Given the description of an element on the screen output the (x, y) to click on. 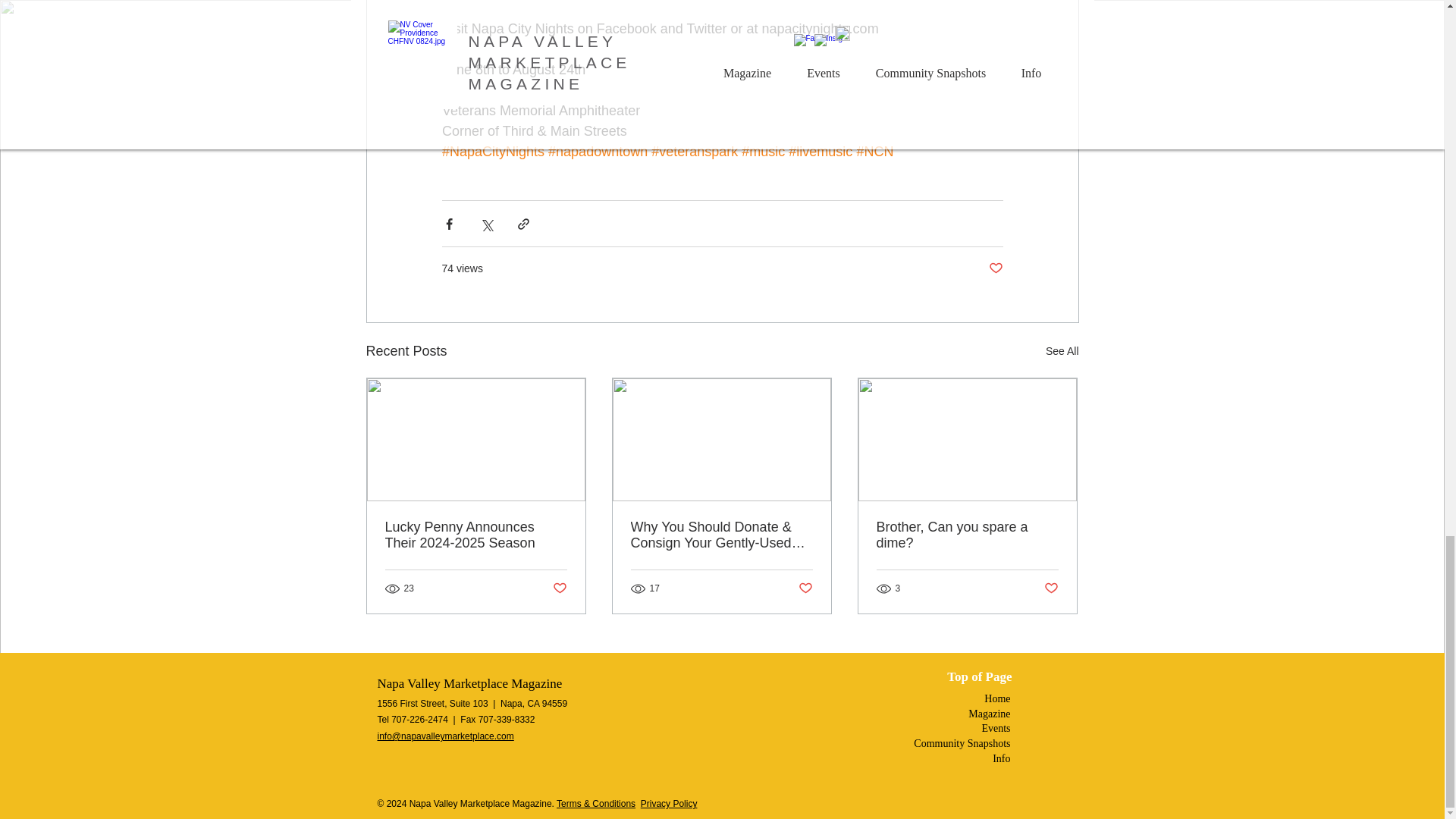
Brother, Can you spare a dime? (967, 535)
Post not marked as liked (995, 268)
Post not marked as liked (804, 588)
Post not marked as liked (1050, 588)
See All (1061, 351)
Post not marked as liked (558, 588)
Lucky Penny Announces Their 2024-2025 Season (476, 535)
